Given the description of an element on the screen output the (x, y) to click on. 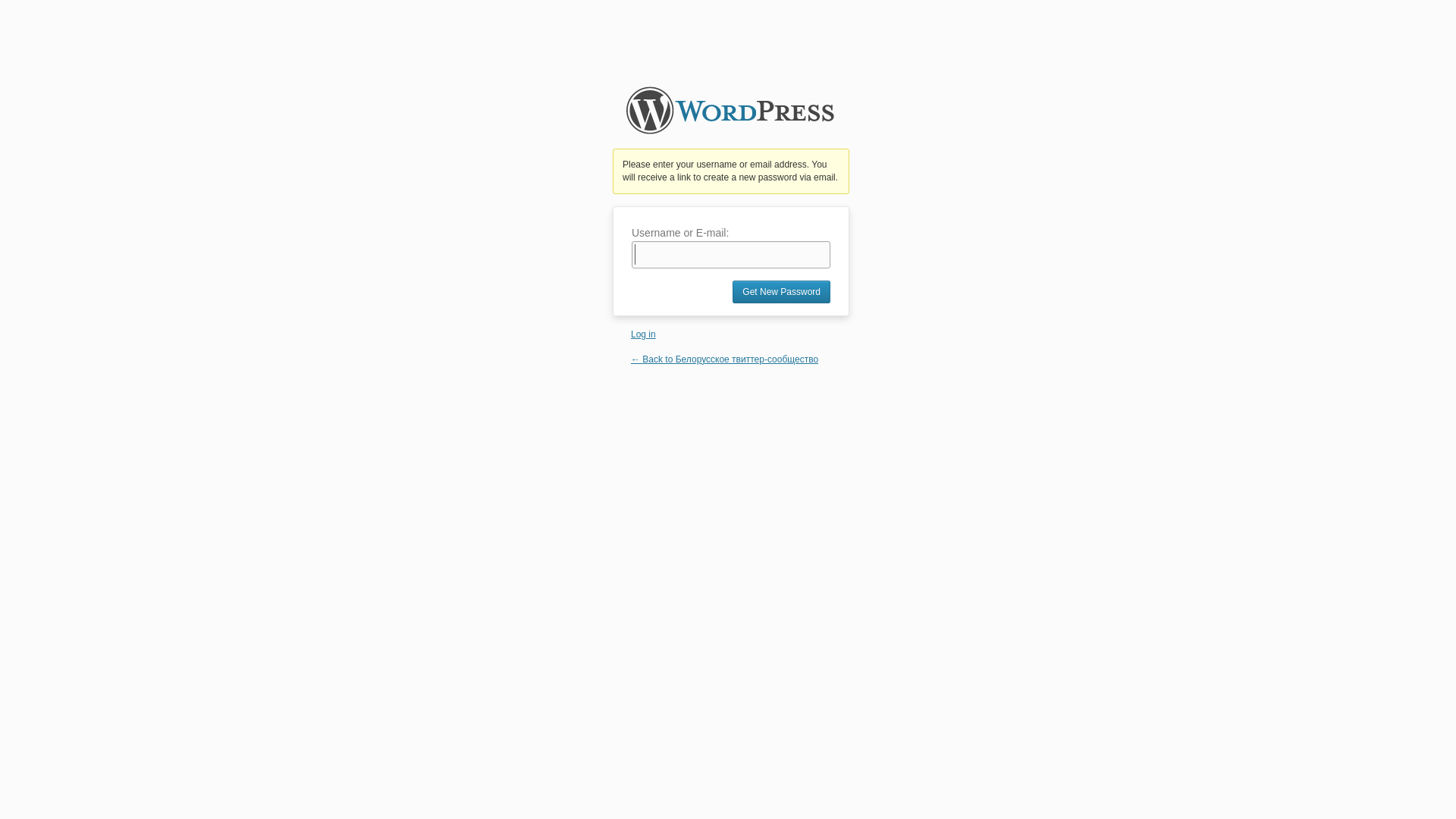
Log in Element type: text (642, 334)
Get New Password Element type: text (781, 291)
